Given the description of an element on the screen output the (x, y) to click on. 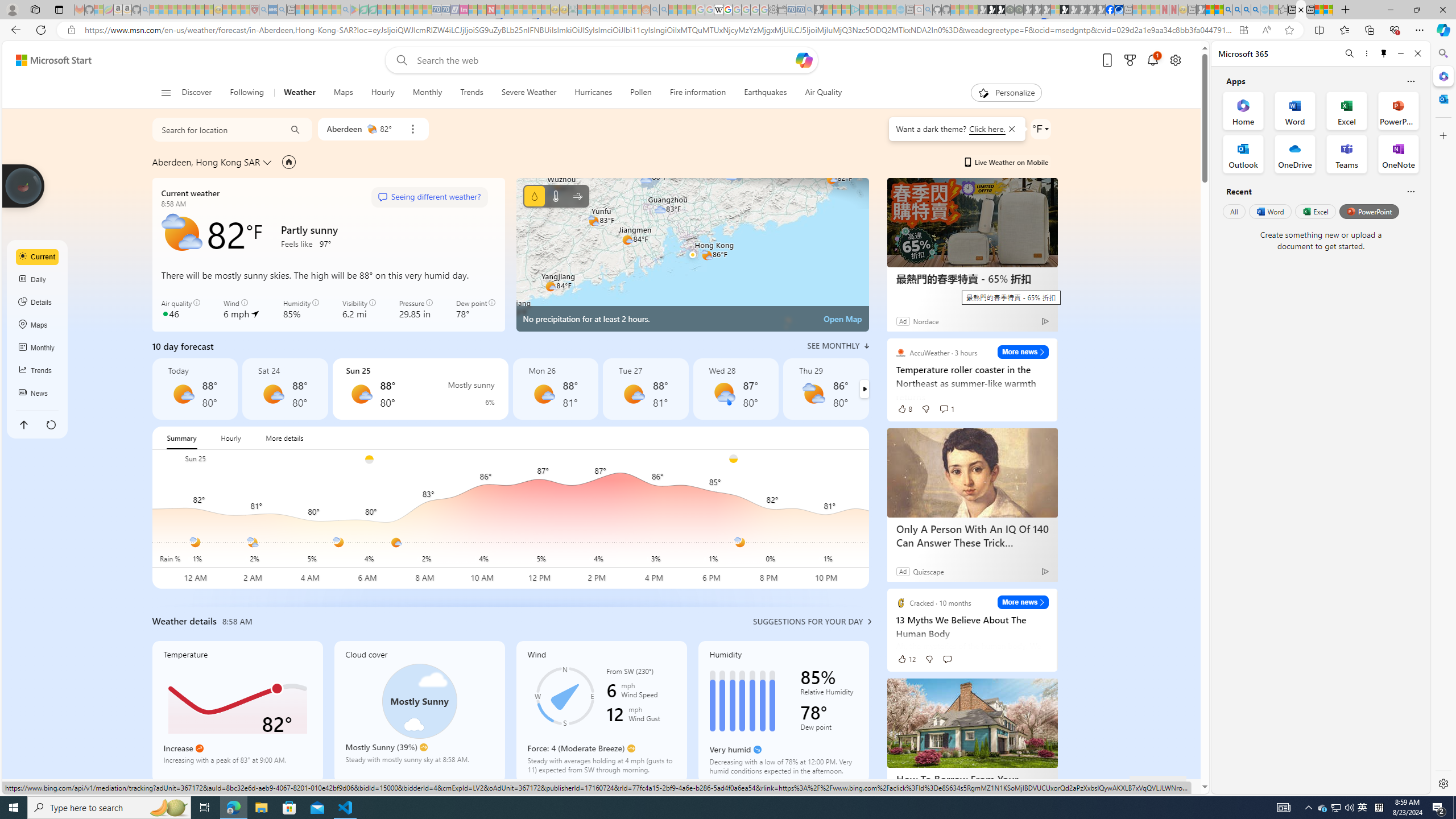
Jobs - lastminute.com Investor Portal - Sleeping (463, 9)
Teams Office App (1346, 154)
Nordace | Facebook (1109, 9)
Privacy & Cookies (915, 785)
Bing AI - Search (1227, 9)
Excel (1315, 210)
More news (1022, 602)
